Given the description of an element on the screen output the (x, y) to click on. 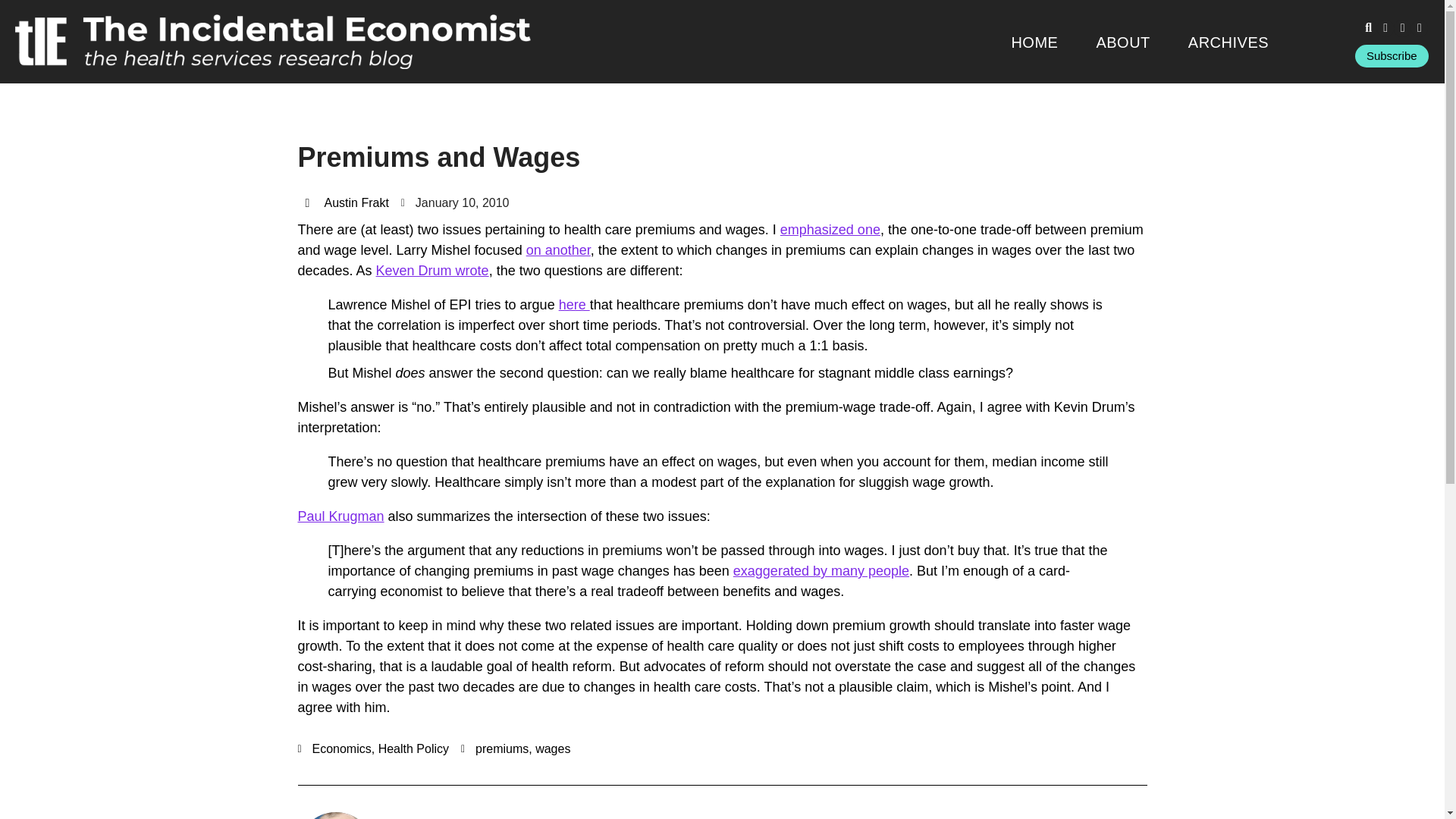
on another (558, 249)
HOME (1034, 41)
January 10, 2010 (455, 203)
Economics (342, 748)
Austin Frakt (346, 203)
Keven Drum wrote (432, 270)
Paul Krugman (340, 516)
emphasized one (830, 229)
ARCHIVES (1228, 41)
wages (552, 748)
ABOUT (1122, 41)
premiums (502, 748)
here (574, 304)
Health Policy (413, 748)
Subscribe (1391, 56)
